Given the description of an element on the screen output the (x, y) to click on. 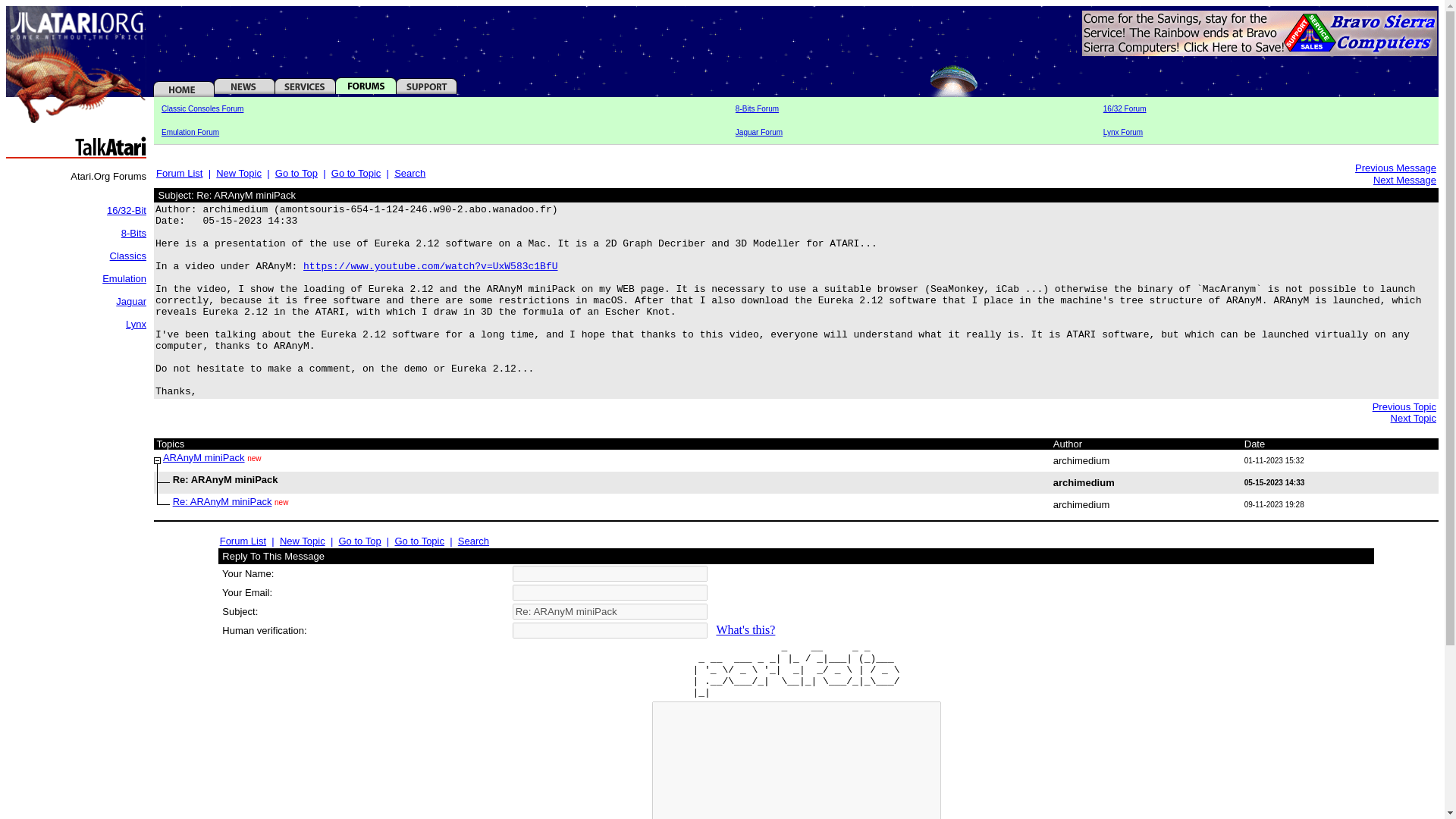
Emulation Forum (190, 131)
Forum List (178, 173)
8-Bits (133, 233)
Next Message (1404, 178)
Jaguar Forum (759, 131)
Re: ARAnyM miniPack (222, 501)
Jaguar (131, 301)
Classics (128, 255)
Classic Consoles Forum (202, 108)
Search (409, 173)
